Given the description of an element on the screen output the (x, y) to click on. 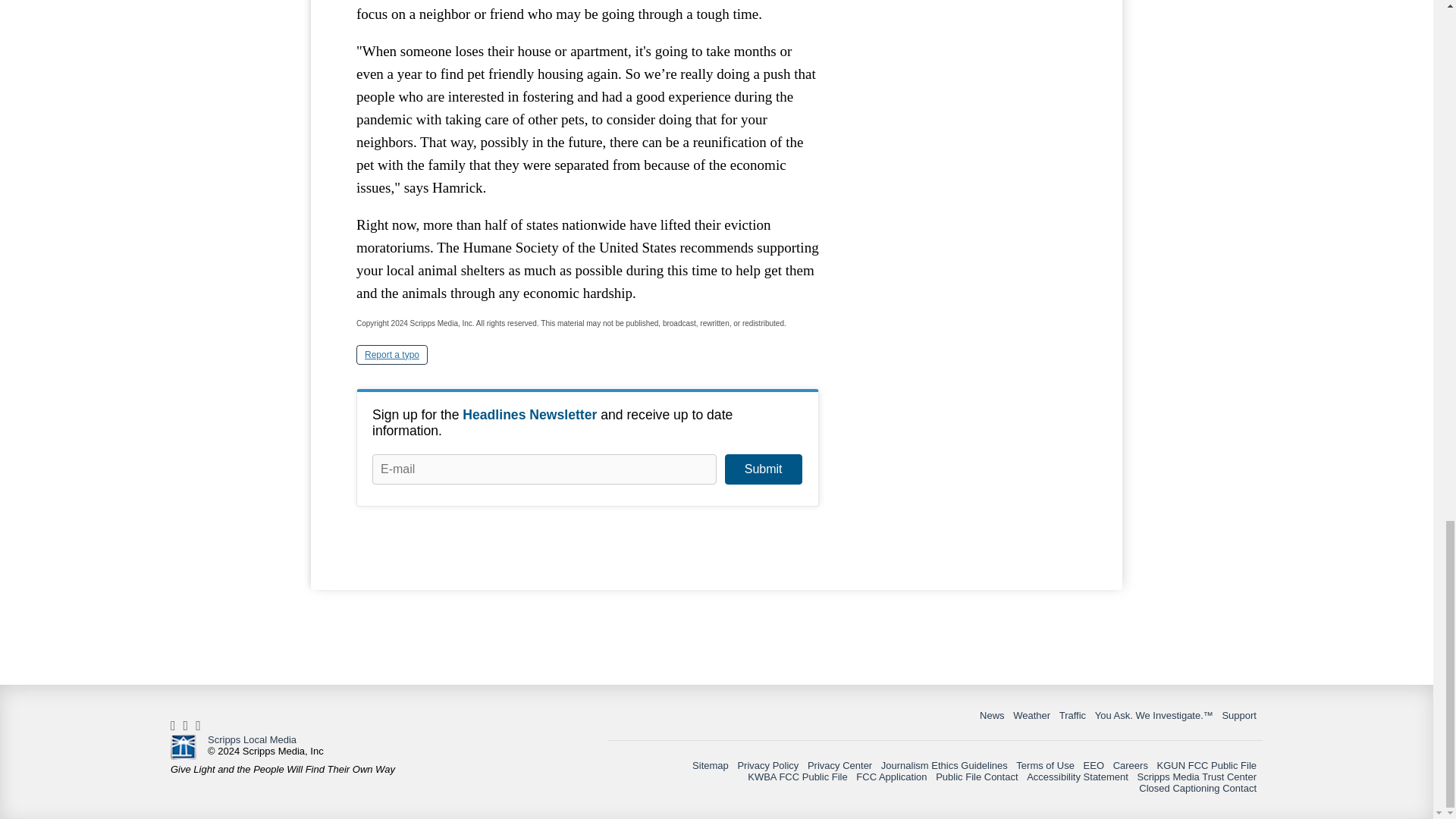
Submit (763, 469)
